Given the description of an element on the screen output the (x, y) to click on. 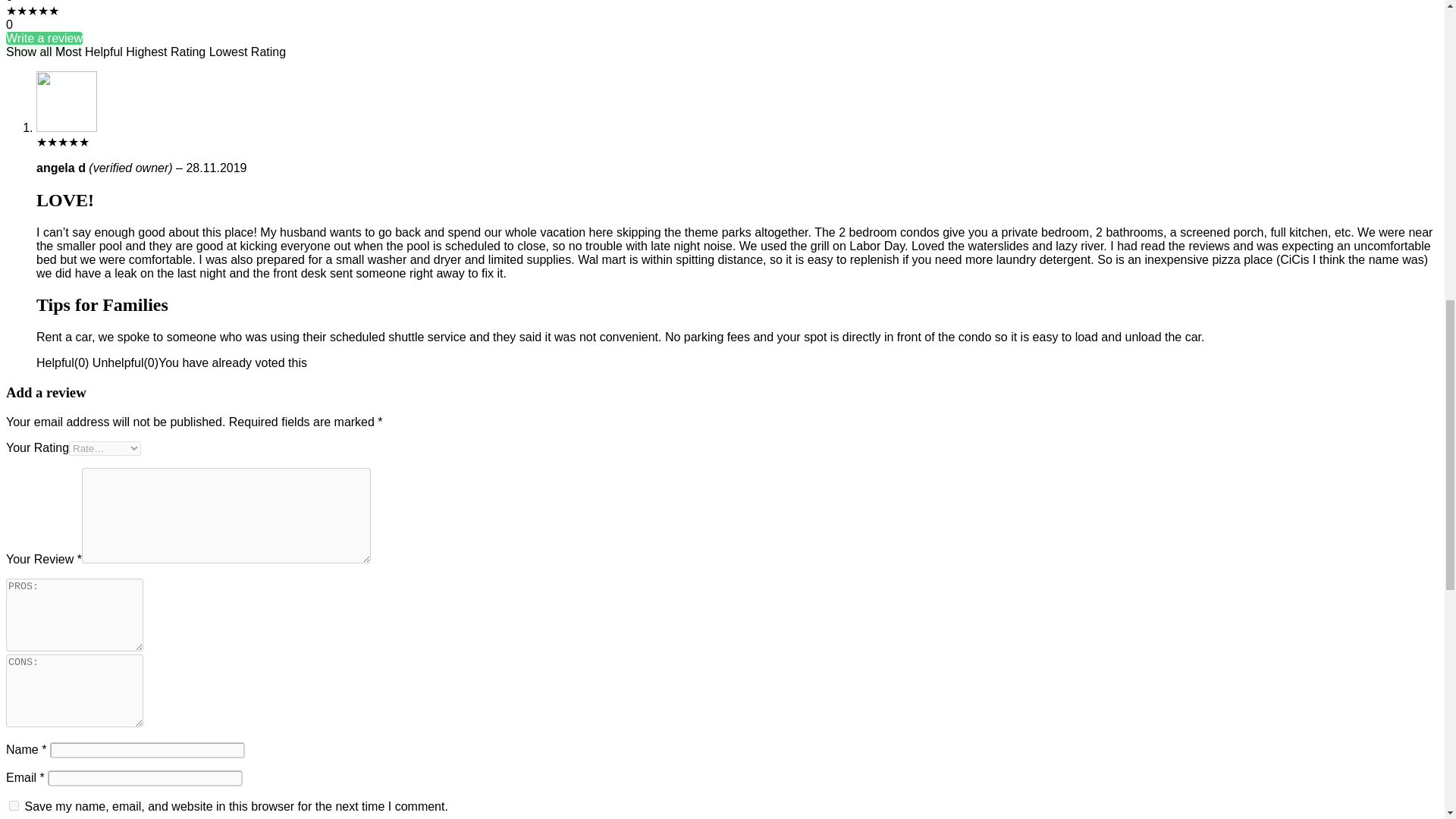
Write a review (43, 38)
yes (13, 805)
